Given the description of an element on the screen output the (x, y) to click on. 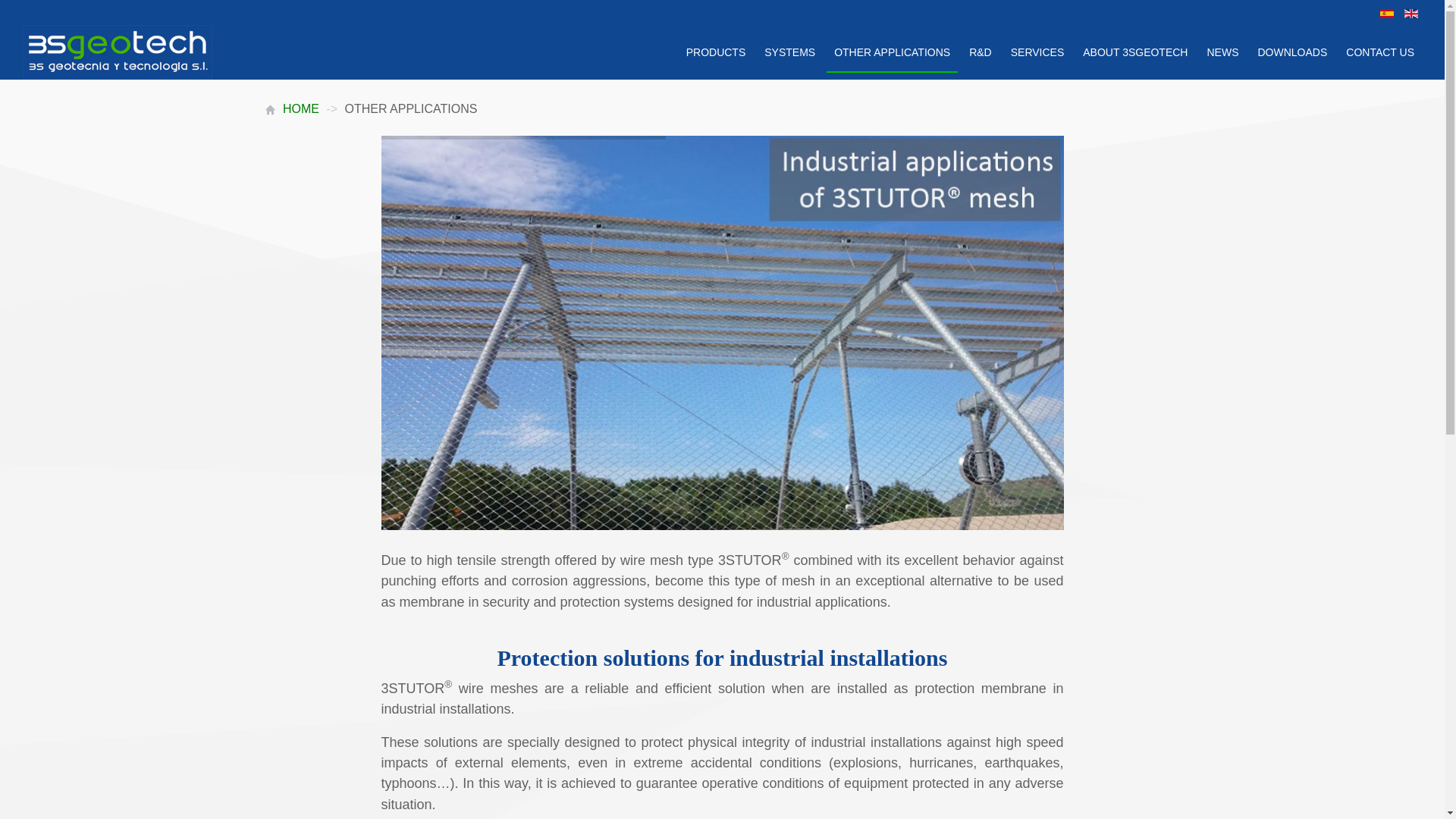
NEWS (1222, 52)
PRODUCTS (716, 52)
CONTACT US (1380, 52)
OTHER APPLICATIONS (892, 52)
ABOUT 3SGEOTECH (1135, 52)
SERVICES (1037, 52)
DOWNLOADS (1292, 52)
SYSTEMS (789, 52)
